Given the description of an element on the screen output the (x, y) to click on. 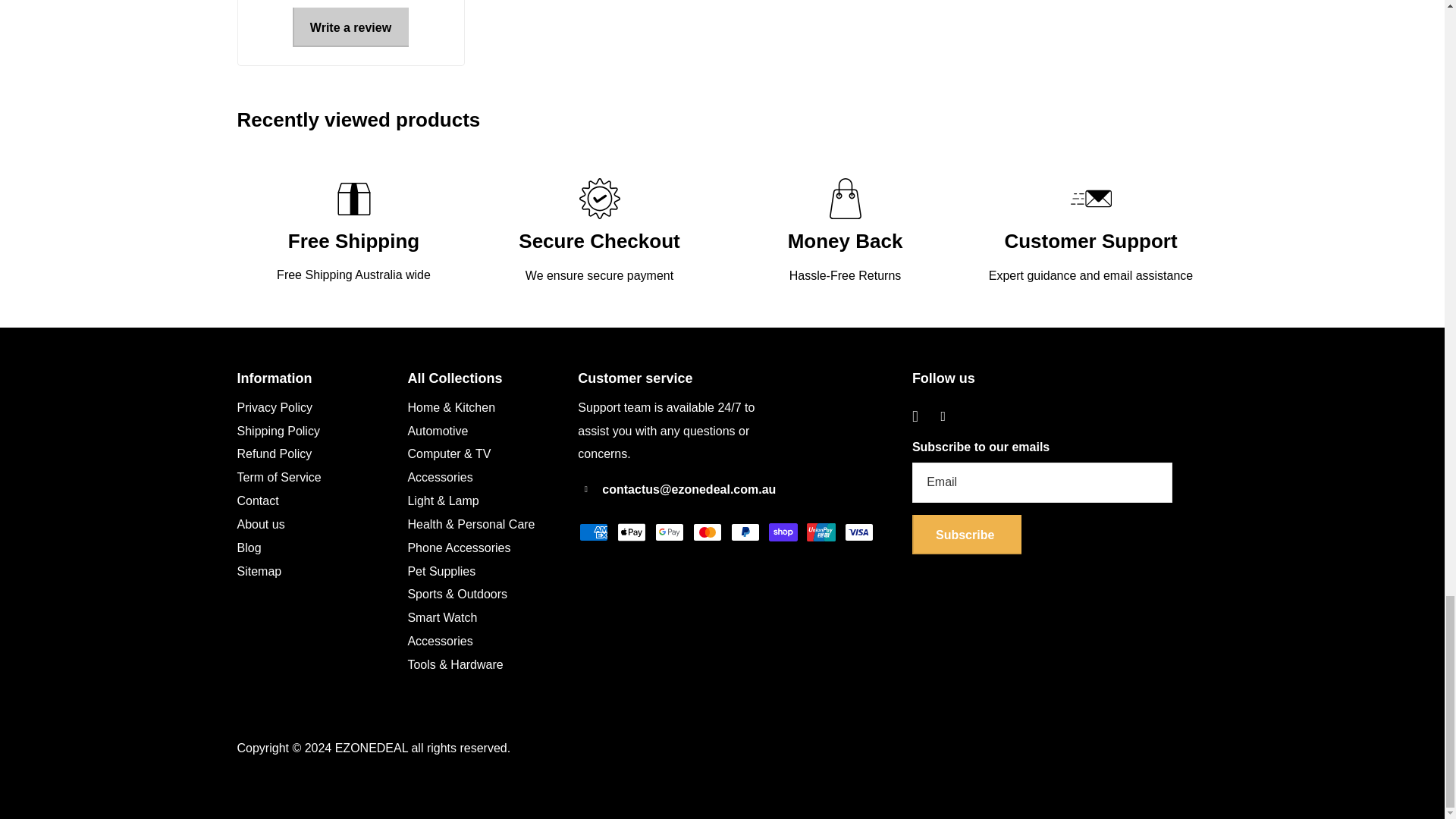
Privacy Policy  (274, 407)
About us (259, 523)
Smart Watch Accessories (442, 628)
Mastercard (707, 532)
Blog (247, 547)
Term of Service (277, 477)
Phone Accessories (459, 547)
Google Pay (669, 532)
Apple Pay (631, 532)
Sitemap (258, 571)
